Given the description of an element on the screen output the (x, y) to click on. 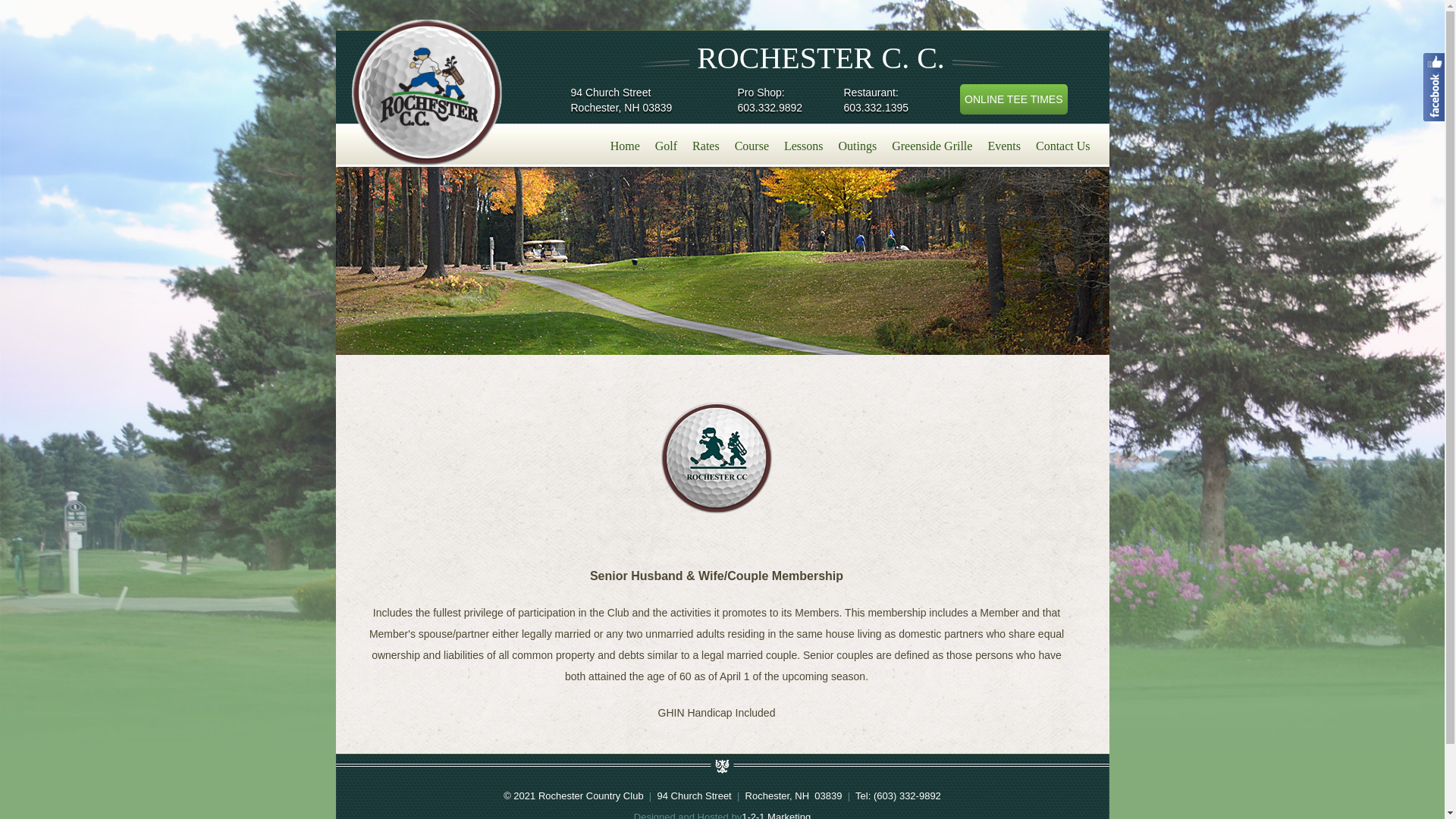
ONLINE TEE TIMES (1013, 99)
Course (751, 143)
Golf (665, 143)
Lessons (803, 143)
Outings (858, 143)
Rates (705, 143)
Greenside Grille (931, 143)
Home (624, 143)
